Given the description of an element on the screen output the (x, y) to click on. 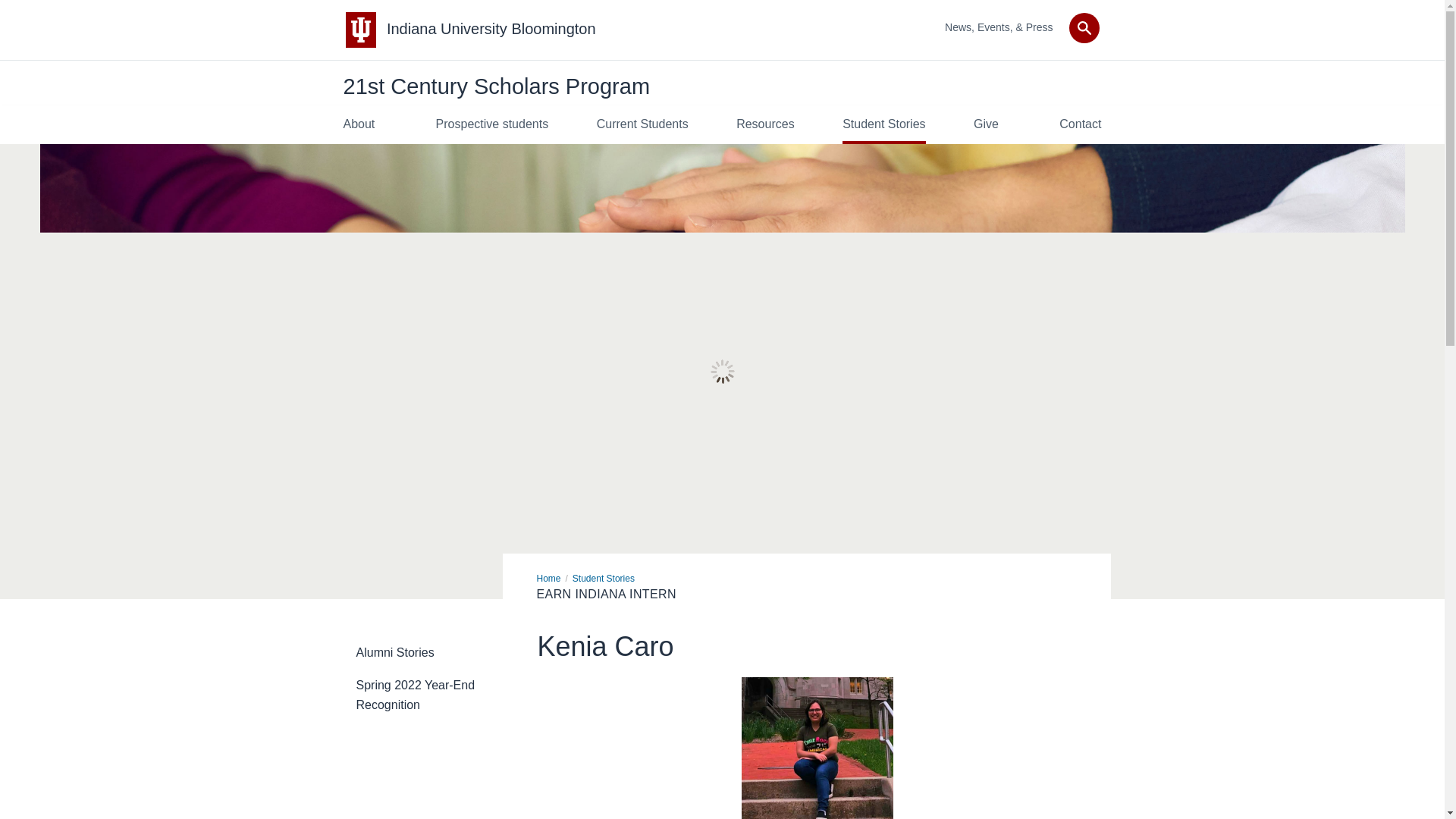
Indiana University Bloomington (491, 28)
Indiana University Bloomington (491, 28)
